Given the description of an element on the screen output the (x, y) to click on. 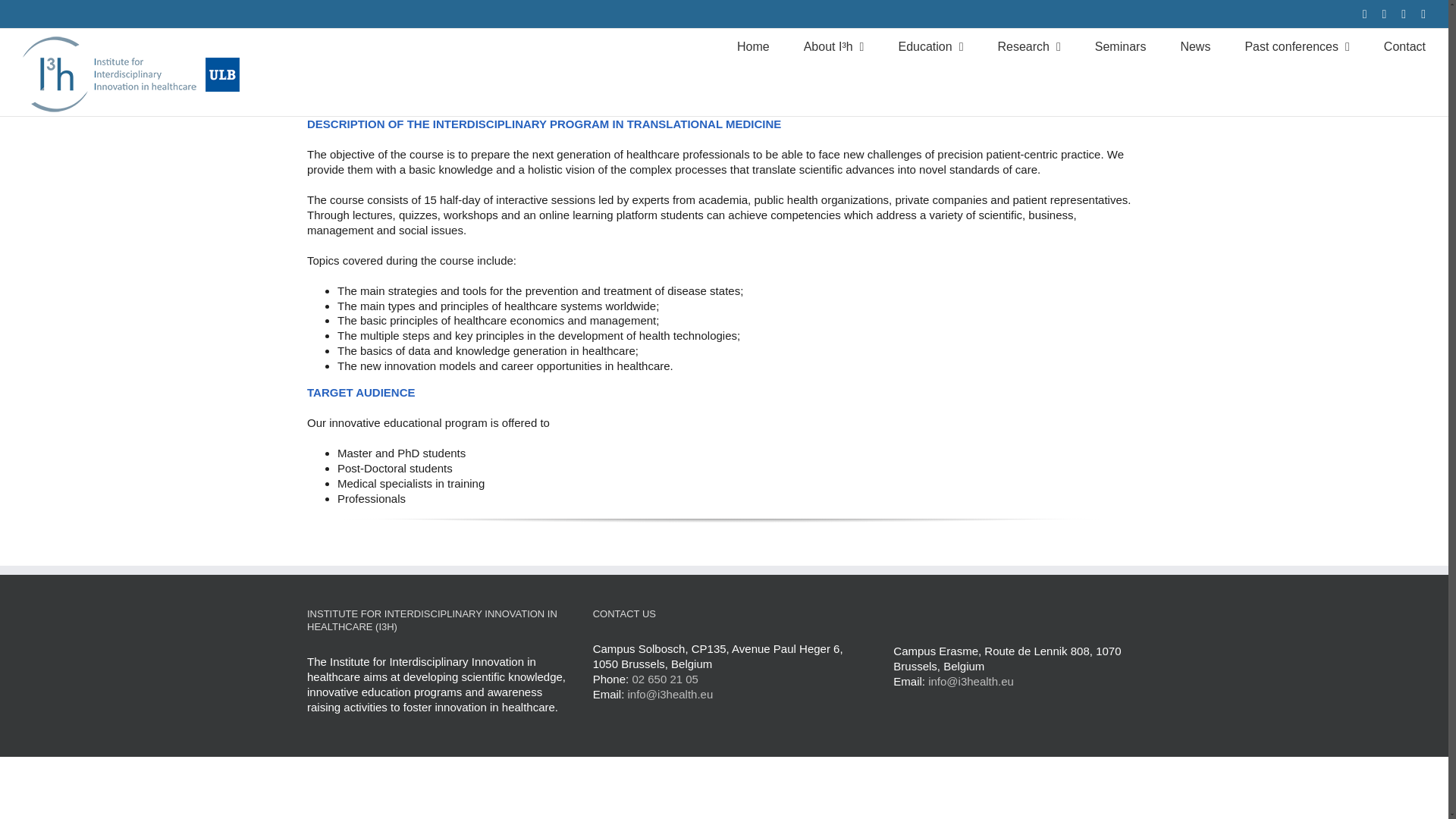
Seminars (1120, 45)
News (1194, 45)
Research (1028, 45)
Past conferences (1296, 45)
Education (930, 45)
Home (753, 45)
